Given the description of an element on the screen output the (x, y) to click on. 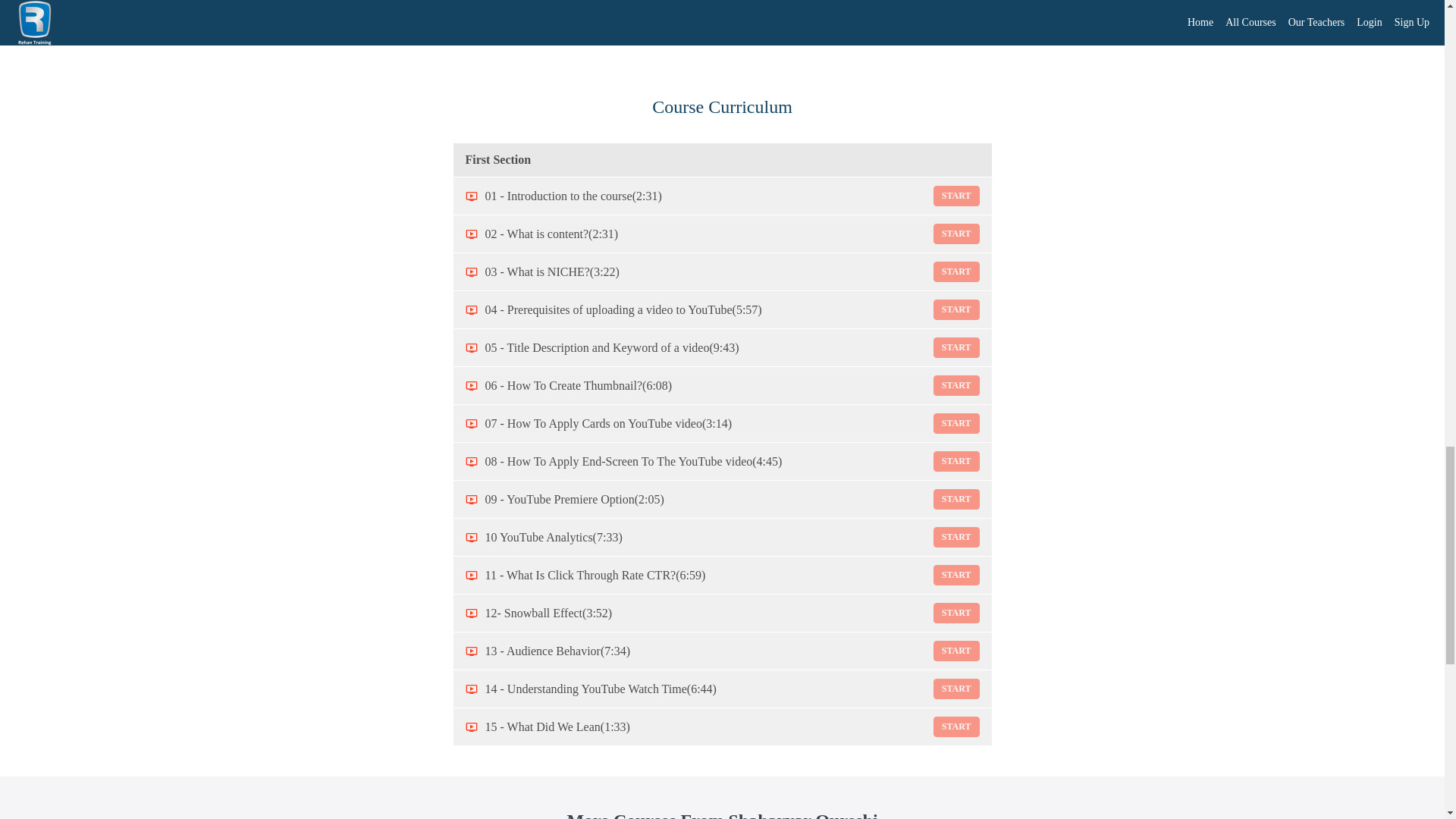
START (956, 309)
START (956, 498)
START (956, 385)
Enroll Now (721, 16)
START (956, 195)
START (956, 688)
START (956, 537)
START (956, 347)
START (956, 650)
START (956, 612)
